Given the description of an element on the screen output the (x, y) to click on. 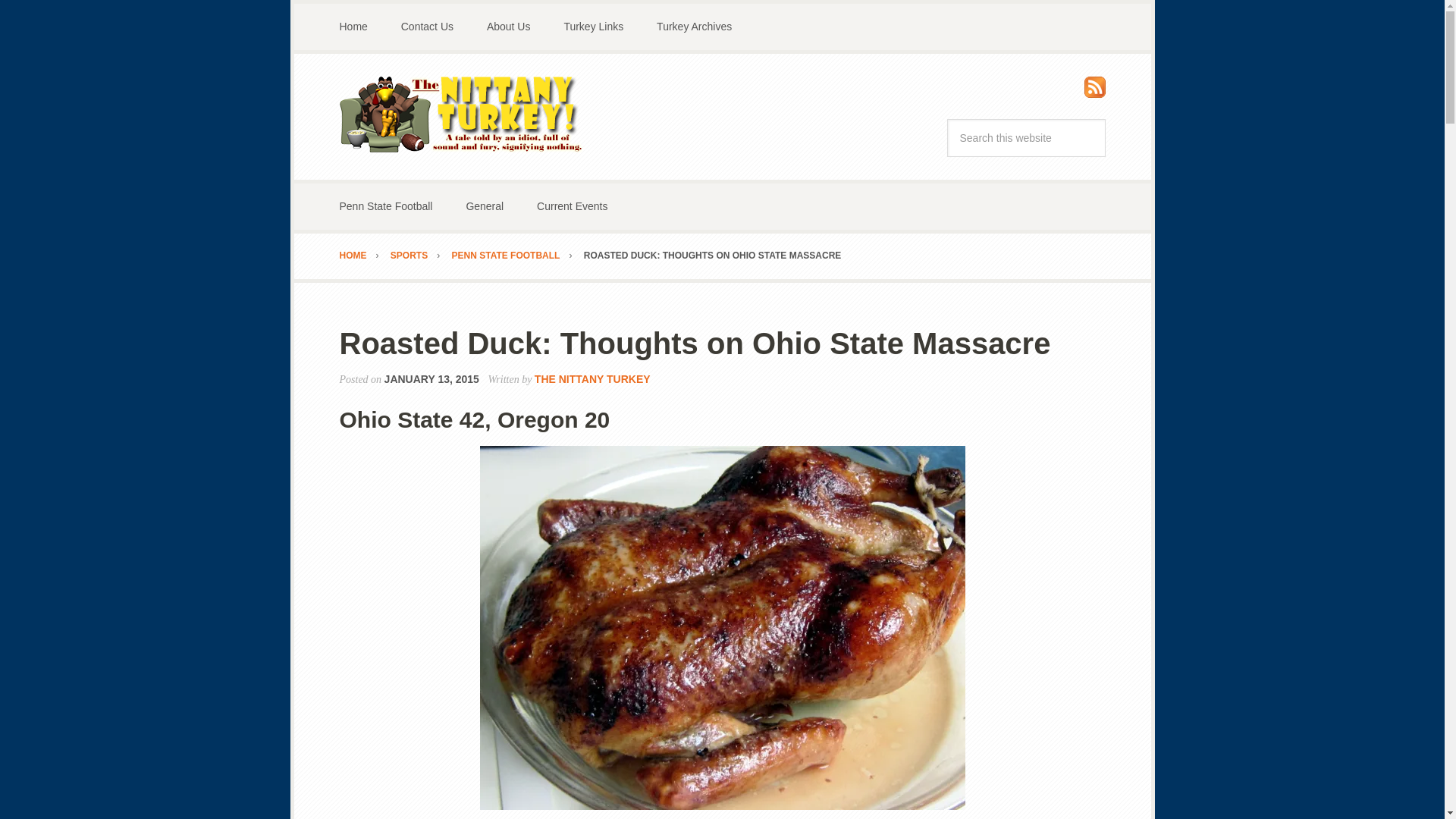
Subscribe to posts (1094, 90)
Contact Us (426, 26)
HOME (363, 255)
Home (353, 26)
Turkey Links (593, 26)
Turkey Archives (694, 26)
Current Events (572, 206)
SPORTS (419, 255)
THE NITTANY TURKEY (592, 378)
The Nittany Turkey (460, 114)
PENN STATE FOOTBALL (515, 255)
General (483, 206)
Penn State Football (386, 206)
About Us (508, 26)
